Given the description of an element on the screen output the (x, y) to click on. 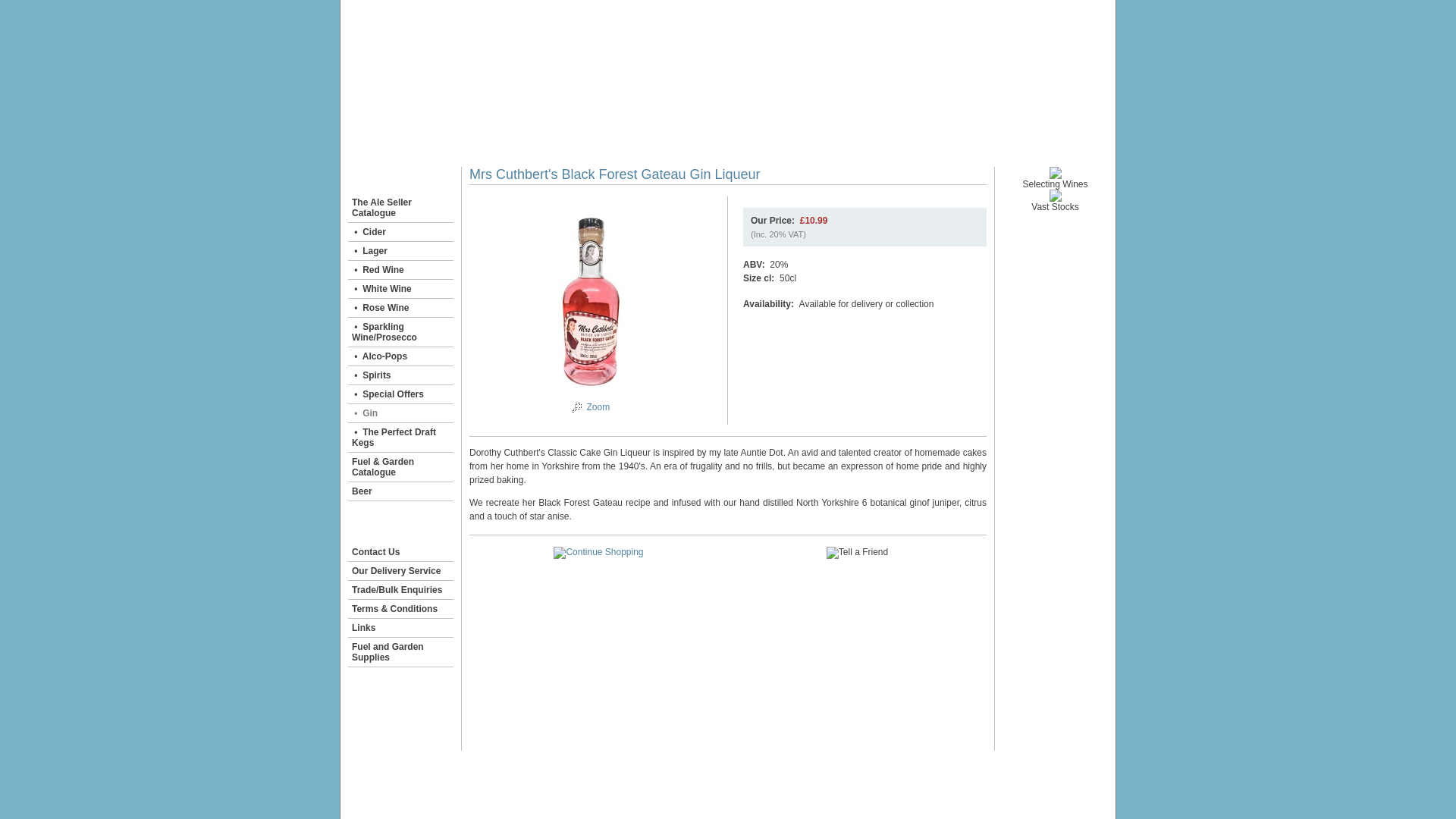
Mrs Cuthbert's Black Forest Gateau Gin Liqueur (576, 408)
Beer (399, 491)
Our Delivery Service (399, 570)
Site Map (719, 778)
Mrs Cuthbert's Black Forest Gateau Gin Liqueur (598, 407)
Zoom (598, 407)
Ale Seller Catalogue (491, 141)
Contact Us (766, 778)
Ale Seller Home (397, 141)
Trade Enquiries (711, 141)
Fuel and Garden Supplies (399, 652)
Links (399, 628)
Contact Us (399, 551)
Mrs Cuthbert's Black Forest Gateau Gin Liqueur (590, 394)
Go Top (680, 778)
